Given the description of an element on the screen output the (x, y) to click on. 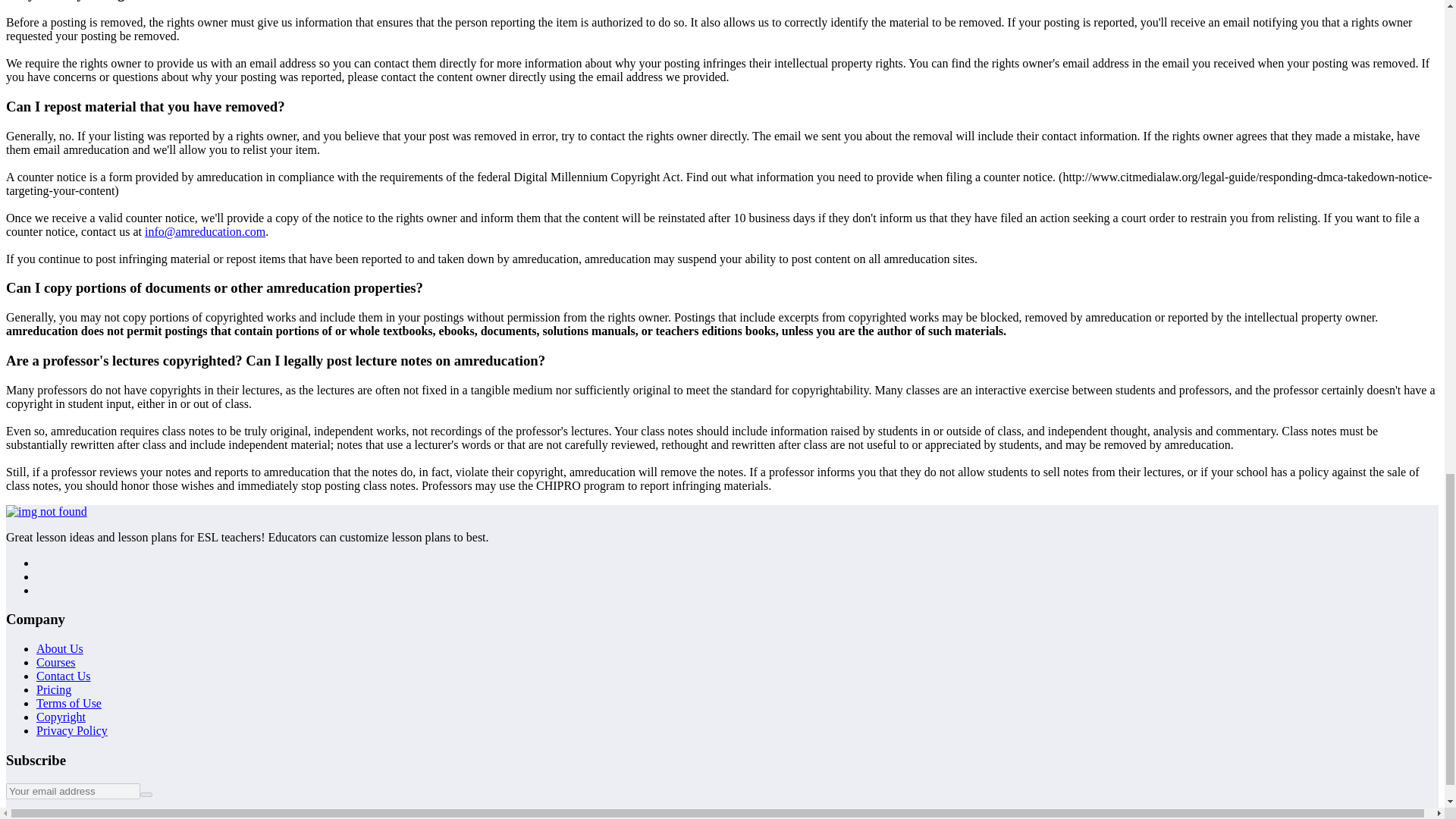
Contact Us (63, 675)
Courses (55, 662)
About Us (59, 648)
